Given the description of an element on the screen output the (x, y) to click on. 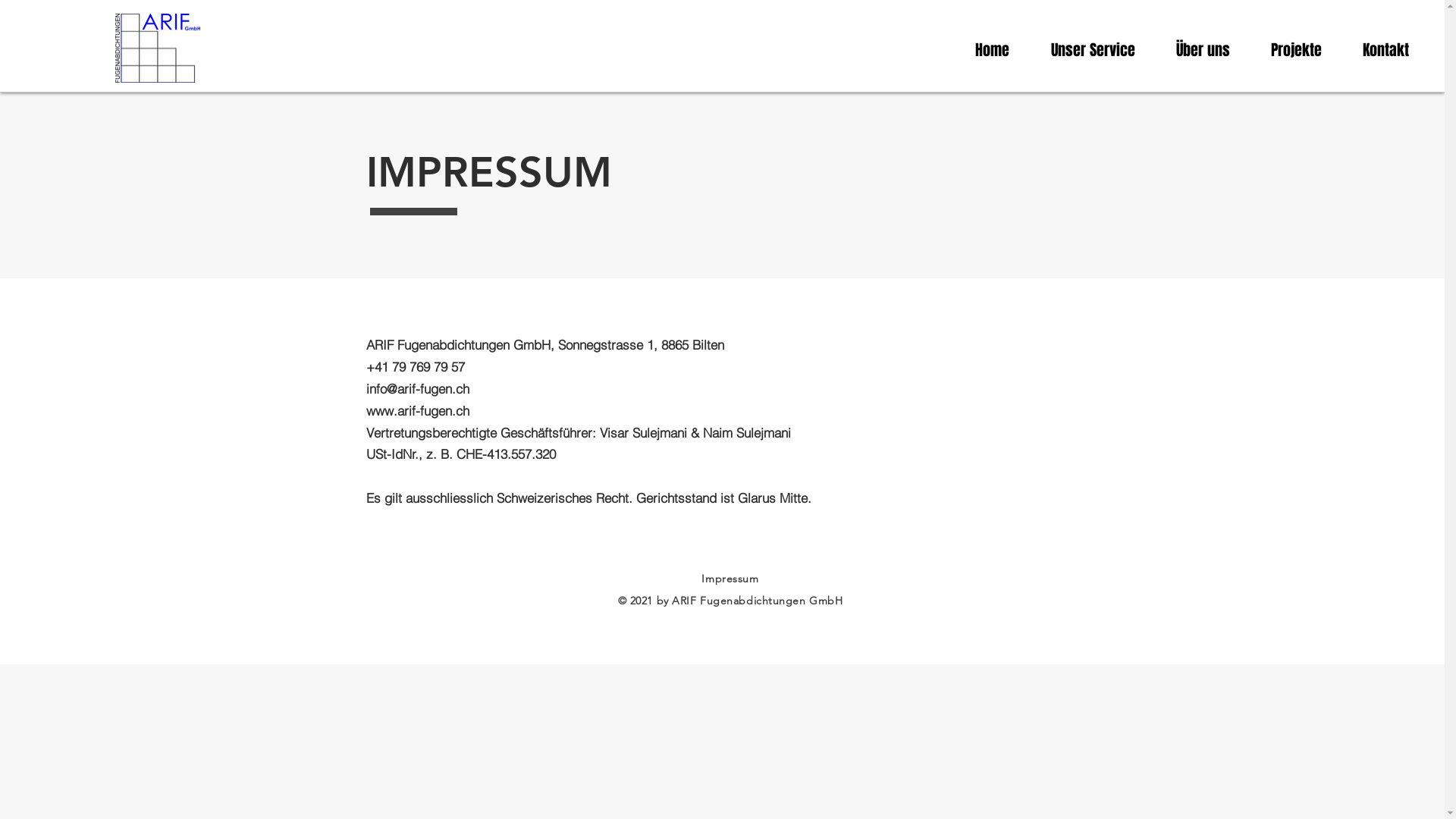
www.arif-fugen.ch Element type: text (416, 410)
Home Element type: text (991, 50)
Kontakt Element type: text (1385, 50)
Impressum Element type: text (729, 578)
Unser Service Element type: text (1092, 50)
info@arif-fugen.ch Element type: text (416, 388)
Projekte Element type: text (1296, 50)
